Given the description of an element on the screen output the (x, y) to click on. 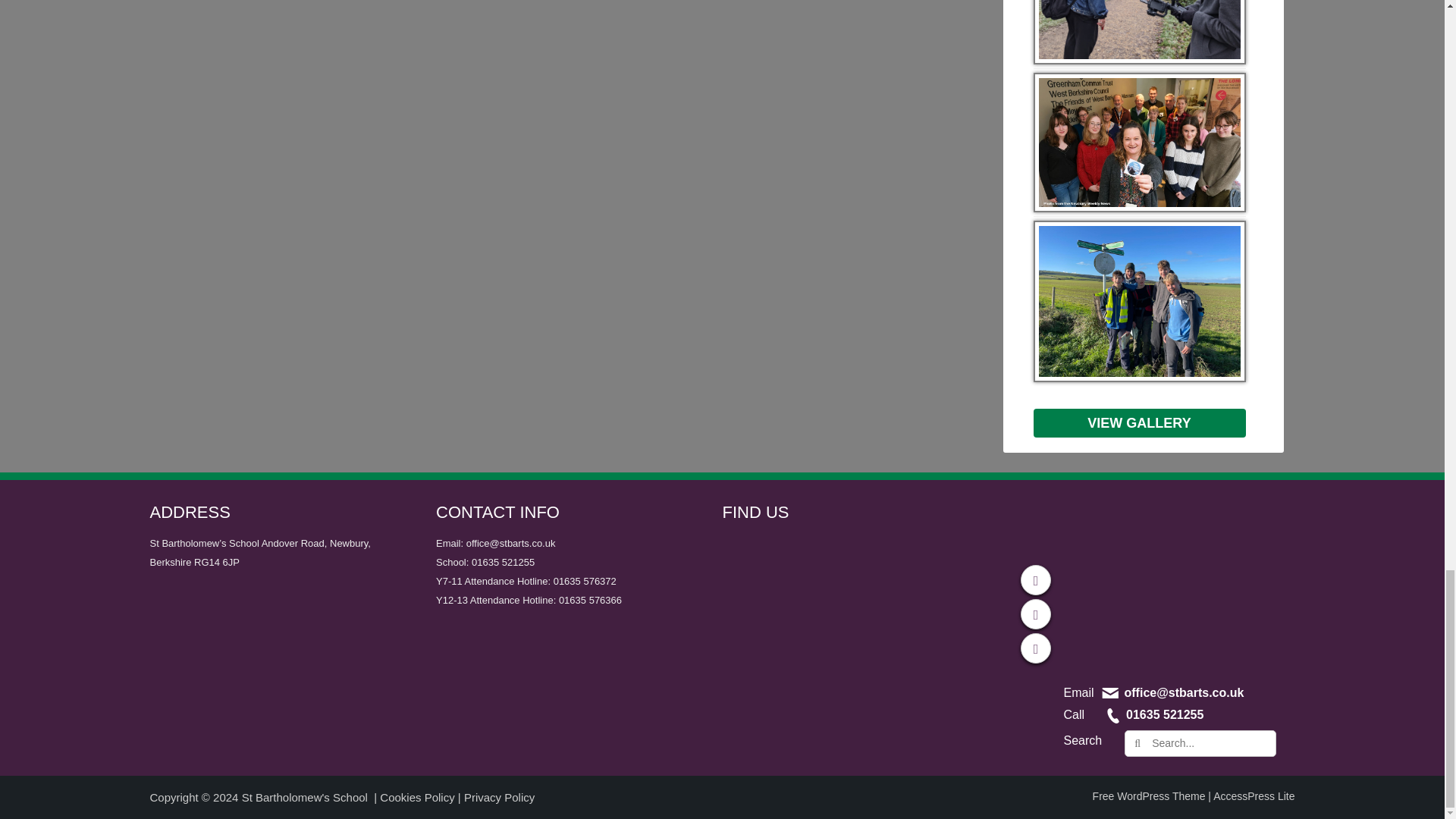
Instagram (1035, 648)
Twitter (1035, 613)
AccessPress Themes (1253, 796)
Facebook (1035, 580)
